Given the description of an element on the screen output the (x, y) to click on. 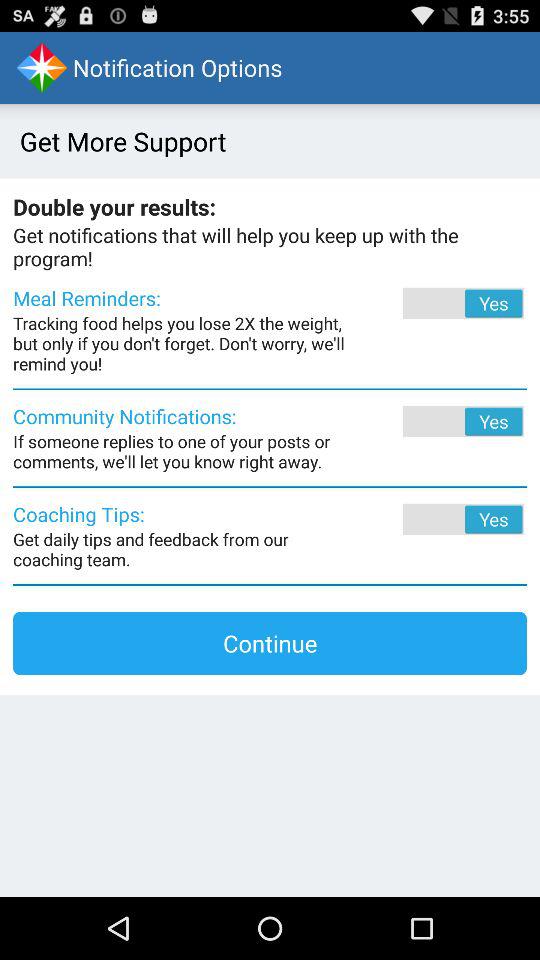
coaching tips toggle (436, 519)
